Given the description of an element on the screen output the (x, y) to click on. 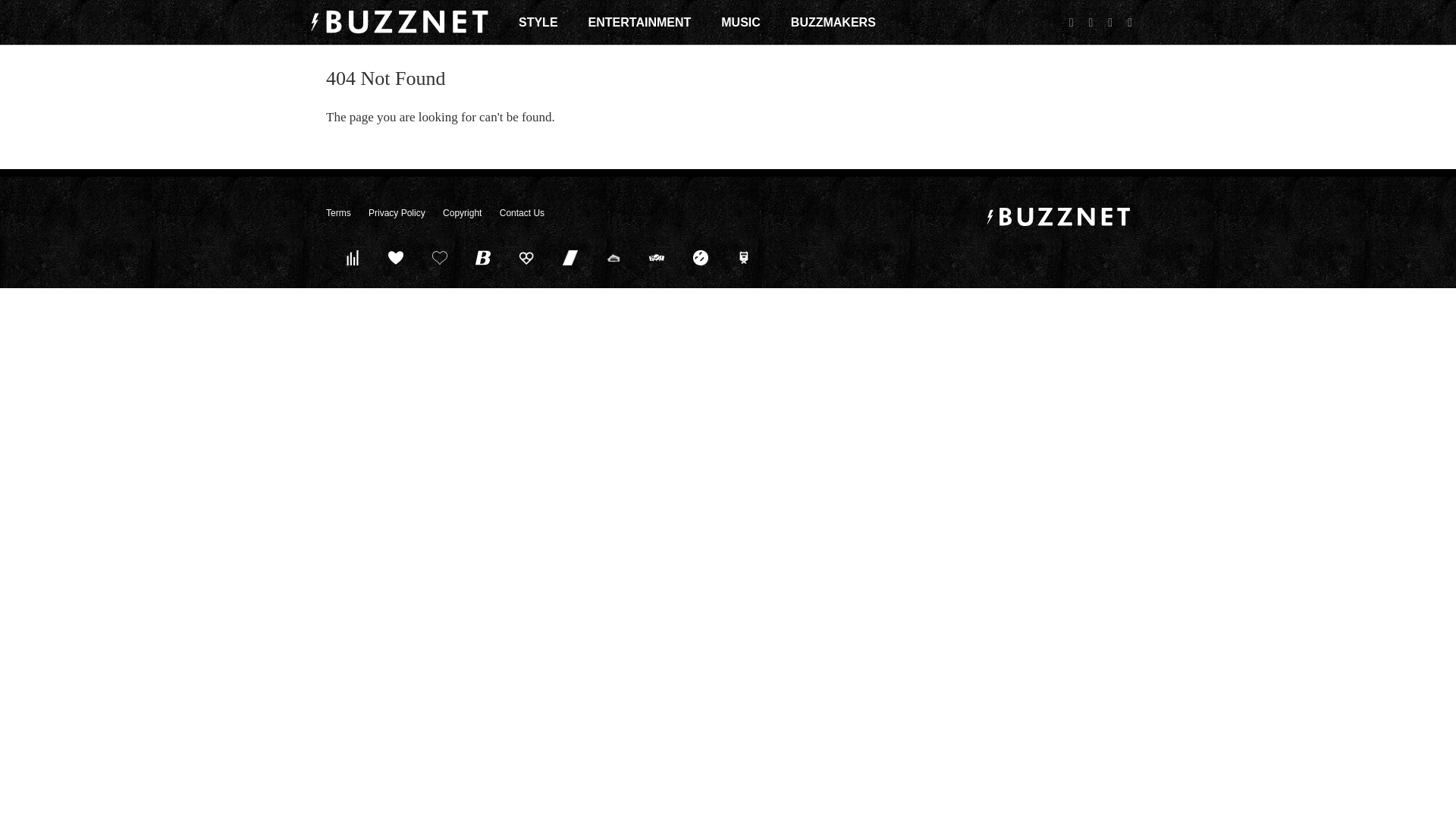
Explored Hollywood (743, 257)
Privacy Policy (396, 213)
Hooch (526, 257)
Taco Relish (612, 257)
STYLE (538, 22)
MUSIC (740, 22)
Post Fun (439, 257)
Pure Volume (351, 257)
Daily Funny (699, 257)
BleacherBreaker (483, 257)
